Given the description of an element on the screen output the (x, y) to click on. 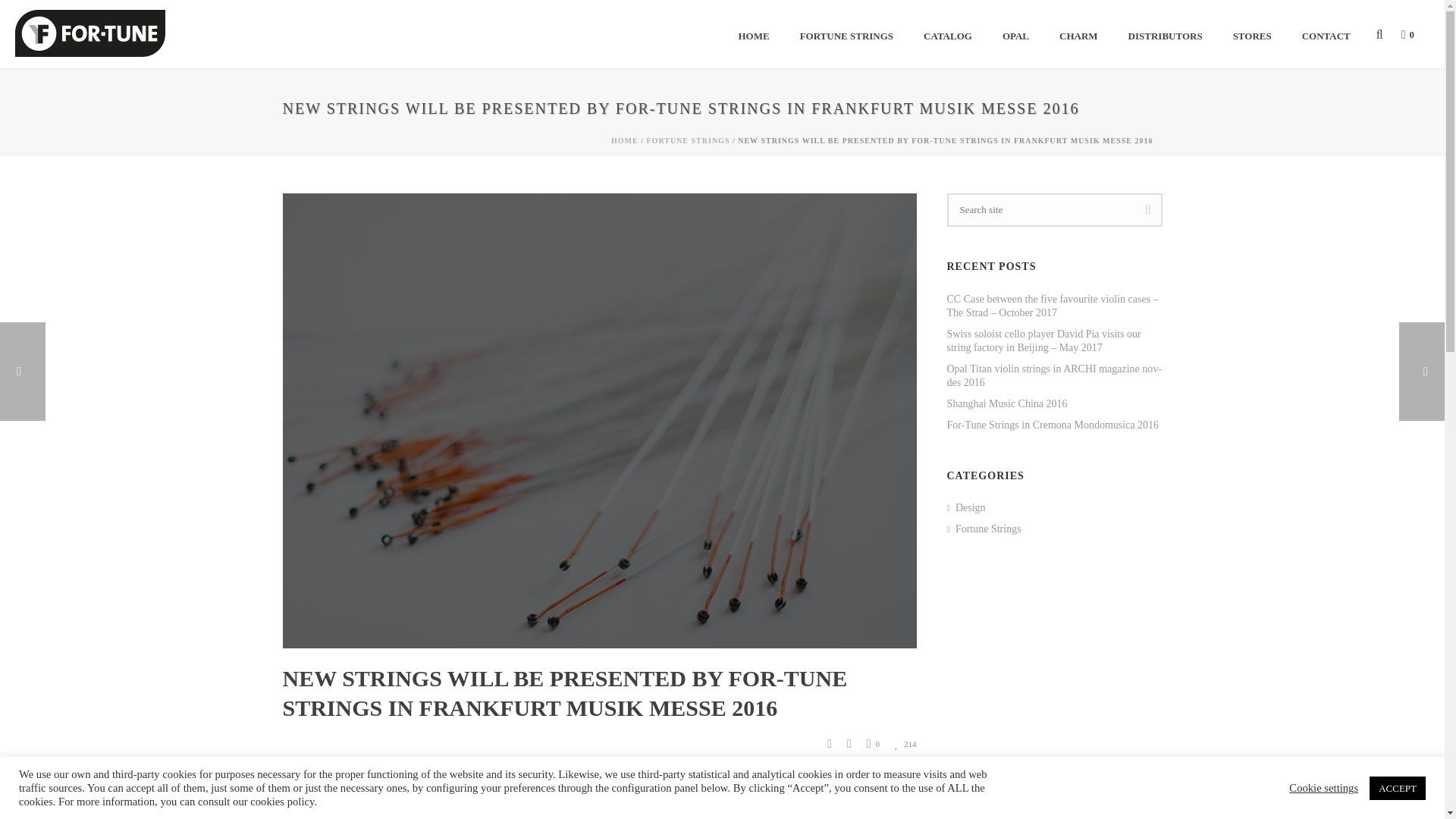
OPAL (1015, 33)
STORES (1252, 33)
HOME (625, 140)
HOME (753, 33)
FORTUNE STRINGS (846, 33)
HOME (753, 33)
CHARM (1078, 33)
DISTRIBUTORS (1165, 33)
0 (1404, 33)
FORTUNE STRINGS (846, 33)
CHARM VIOLA (762, 812)
CHARM (1078, 33)
CHARM (635, 812)
CATALOG (947, 33)
